Given the description of an element on the screen output the (x, y) to click on. 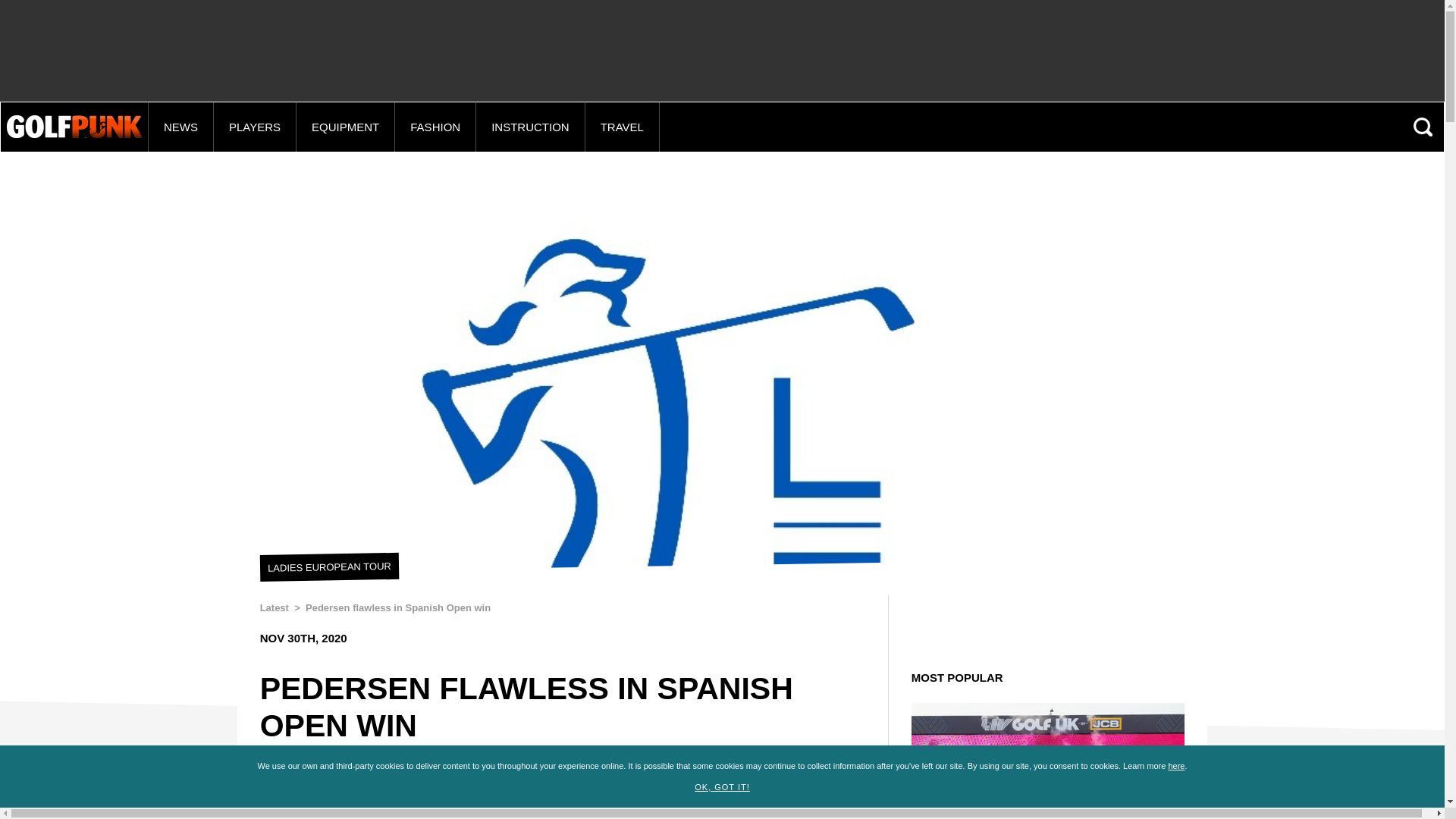
SEARCH (1424, 126)
EQUIPMENT (345, 126)
Pedersen flawless in Spanish Open win (397, 607)
FASHION (435, 126)
INSTRUCTION (530, 126)
NEWS (180, 126)
PLAYERS (254, 126)
here (1176, 765)
Latest (274, 607)
TRAVEL (622, 126)
